Given the description of an element on the screen output the (x, y) to click on. 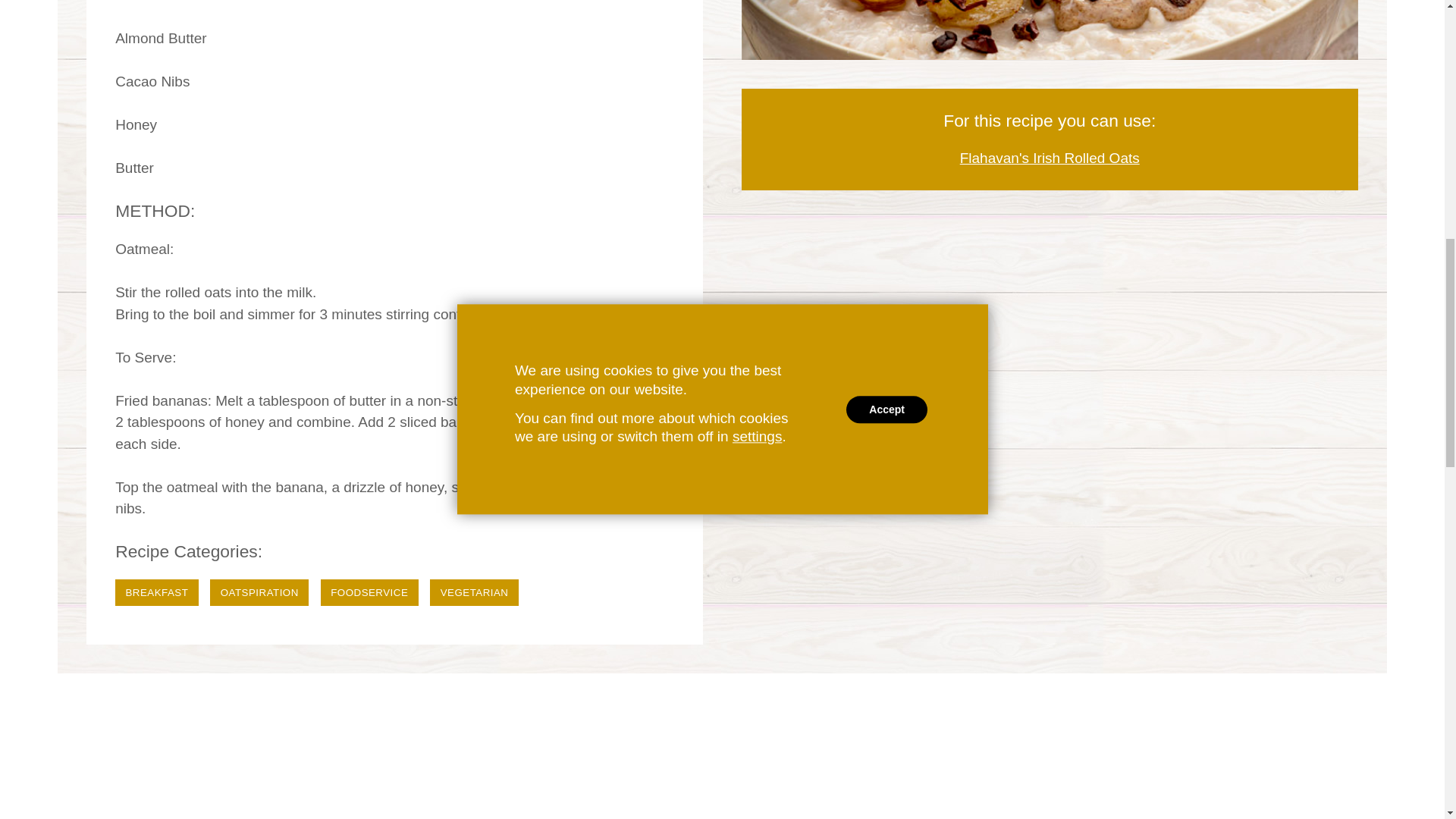
VEGETARIAN (473, 592)
FOODSERVICE (369, 592)
OATSPIRATION (258, 592)
Flahavan's Irish Rolled Oats (1049, 157)
BREAKFAST (156, 592)
